Given the description of an element on the screen output the (x, y) to click on. 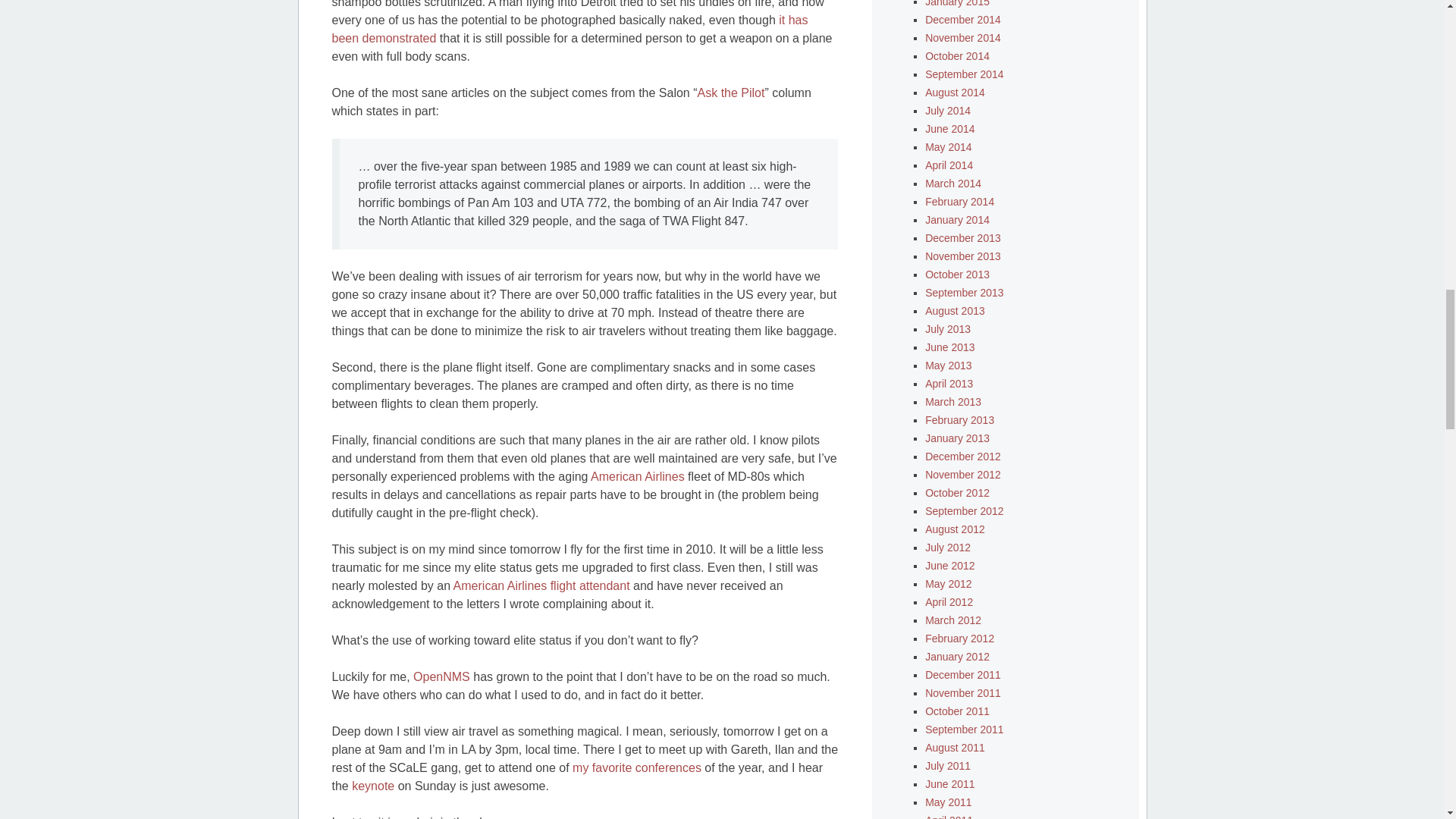
keynote (373, 785)
it has been demonstrated (569, 29)
Ask the Pilot (731, 92)
my favorite conferences (636, 767)
American Airlines (637, 476)
American Airlines flight attendant (541, 585)
OpenNMS (441, 676)
